Given the description of an element on the screen output the (x, y) to click on. 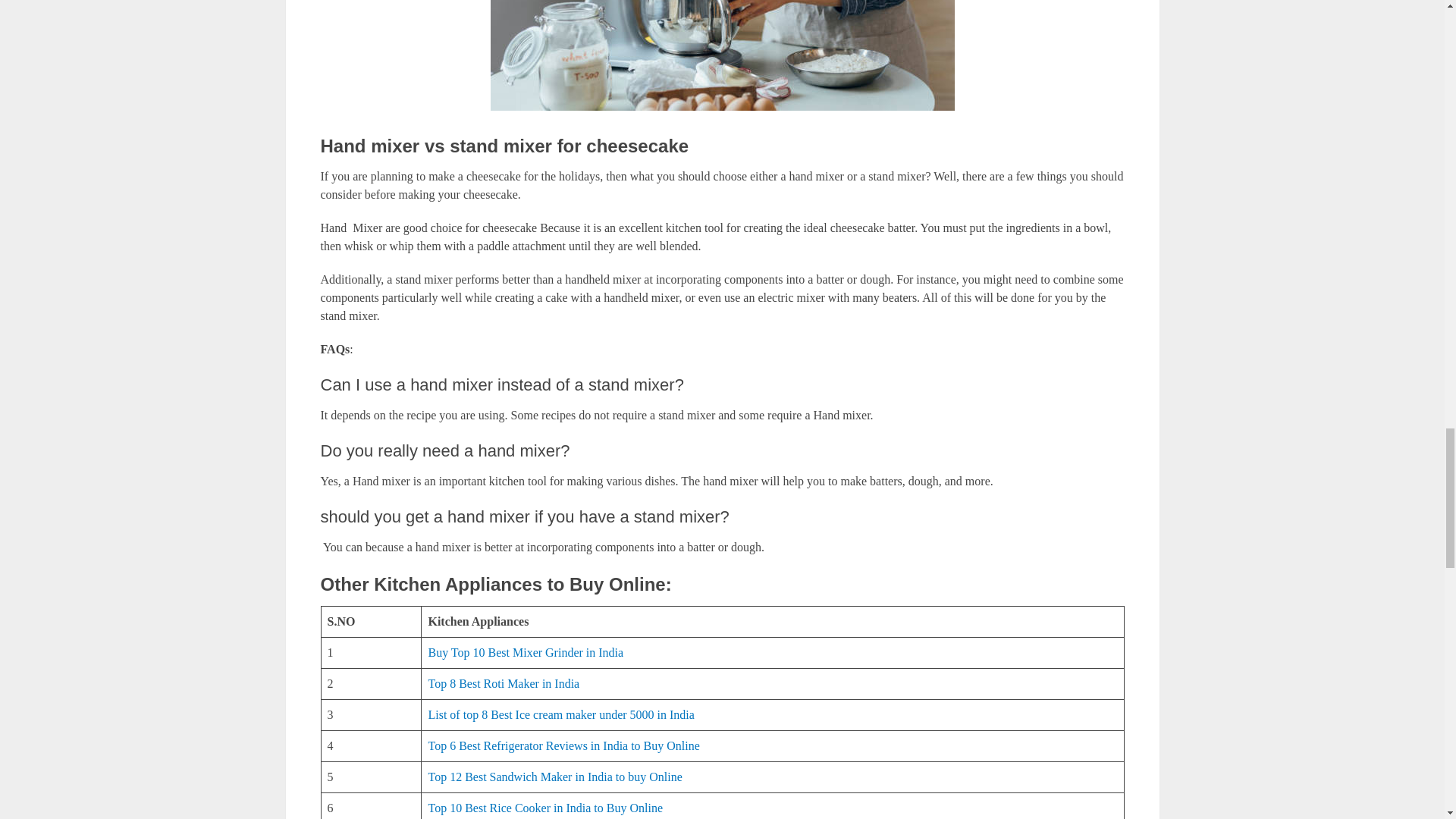
Top 10 Best Rice Cooker in India to Buy Online (545, 807)
List of top 8 Best Ice cream maker under 5000 in India (561, 714)
Top 8 Best Roti Maker in India (503, 683)
Top 12 Best Sandwich Maker in India to buy Online (554, 776)
Top 6 Best Refrigerator Reviews in India to Buy Online (563, 745)
Buy Top 10 Best Mixer Grinder in India (525, 652)
